Given the description of an element on the screen output the (x, y) to click on. 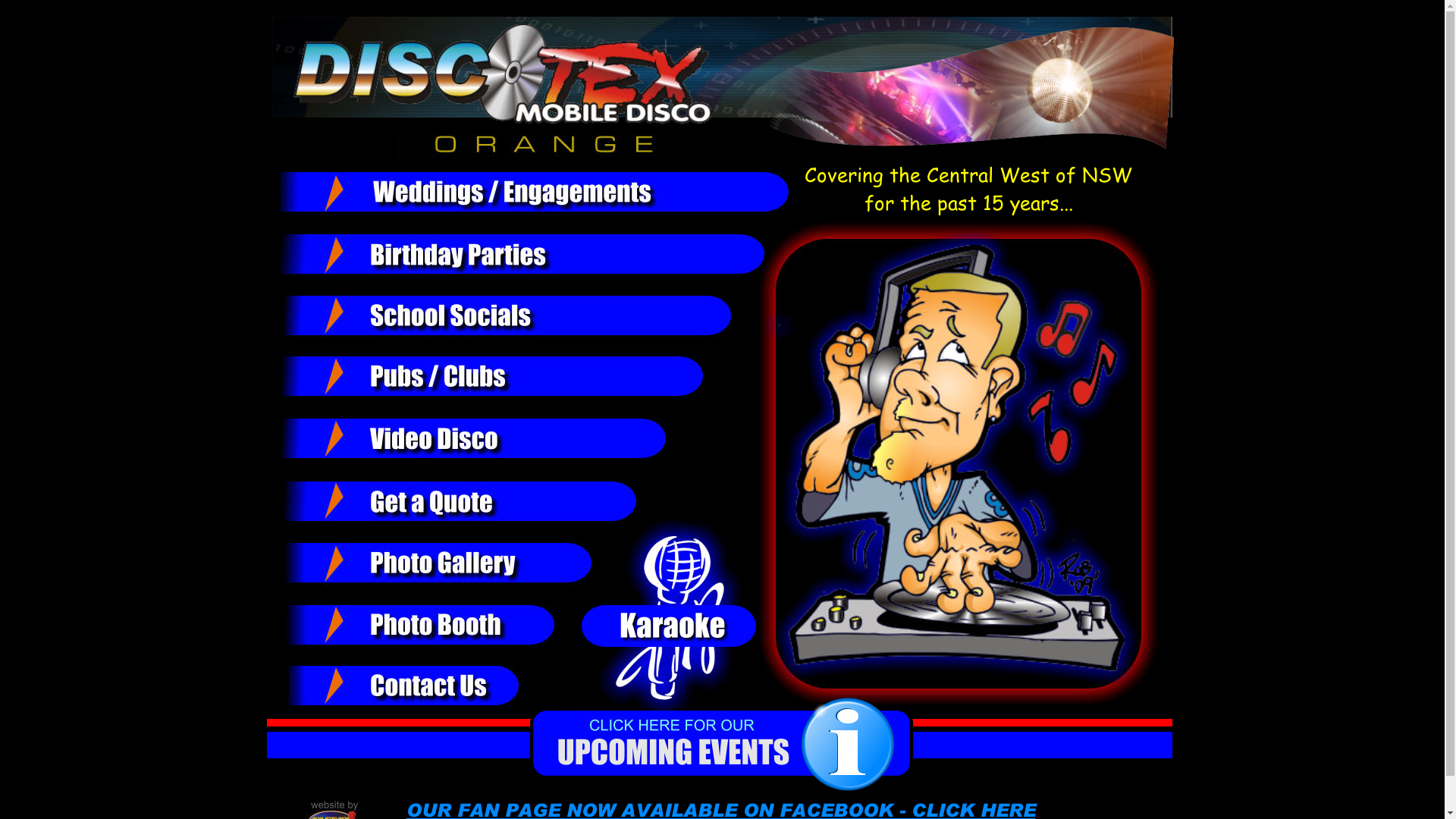
OUR FAN PAGE NOW AVAILABLE ON FACEBOOK - CLICK HERE Element type: text (720, 803)
